Given the description of an element on the screen output the (x, y) to click on. 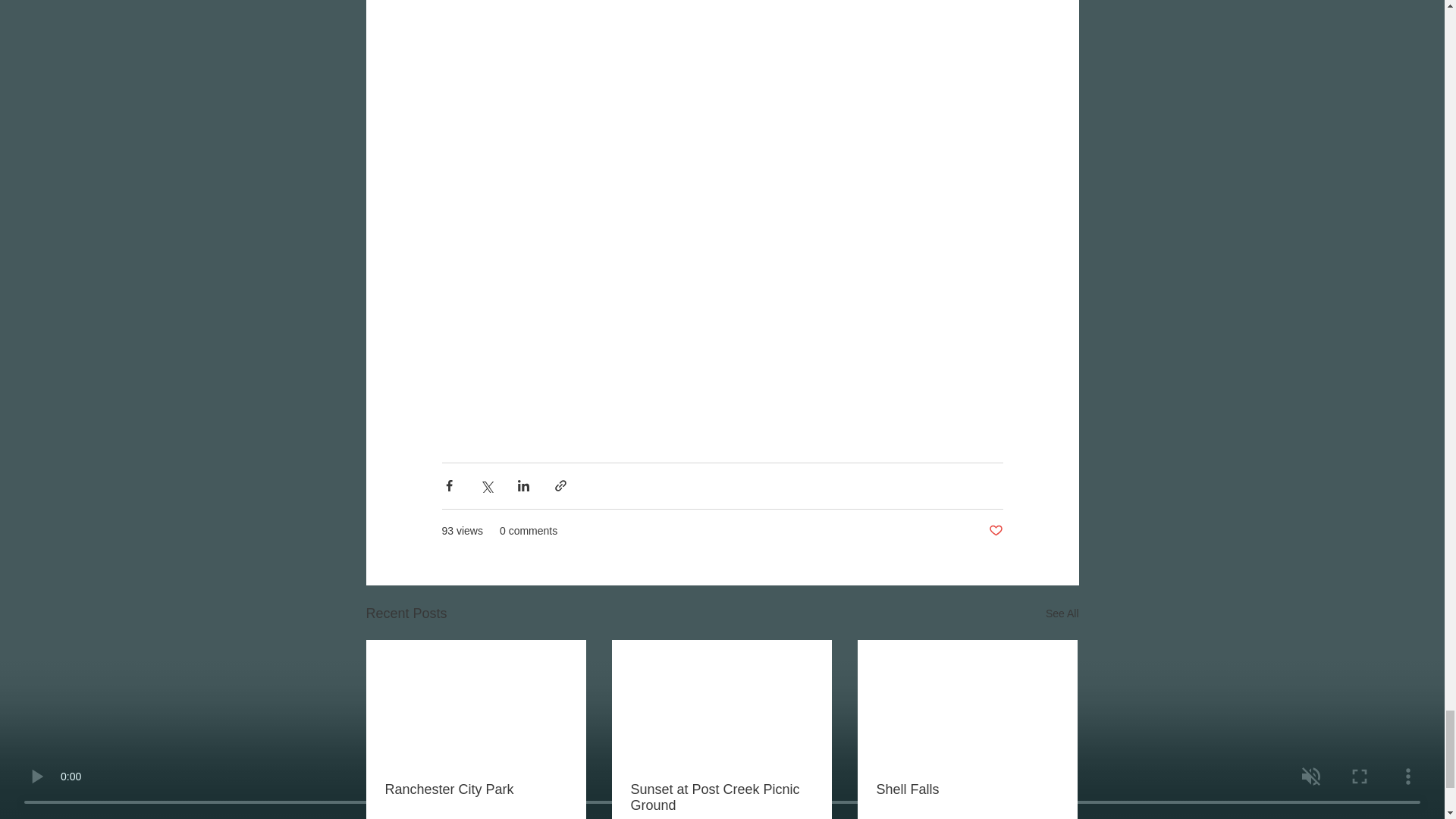
Ranchester City Park (476, 789)
Sunset at Post Creek Picnic Ground (721, 798)
See All (1061, 613)
Shell Falls (967, 789)
Post not marked as liked (995, 530)
